Given the description of an element on the screen output the (x, y) to click on. 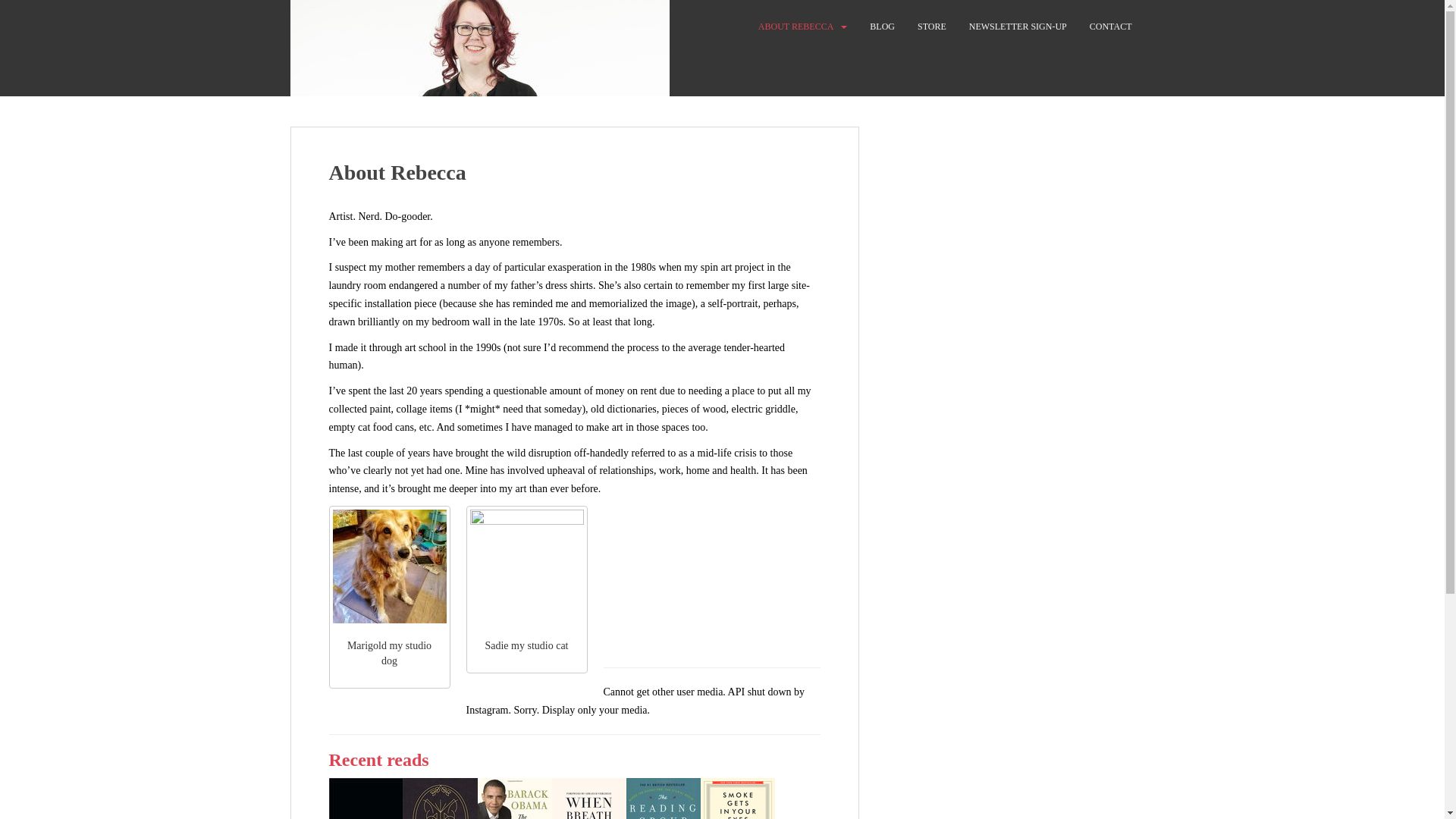
ABOUT REBECCA (795, 26)
STORE (931, 26)
CONTACT (1110, 26)
Recent reads (379, 759)
NEWSLETTER SIGN-UP (1018, 26)
